Given the description of an element on the screen output the (x, y) to click on. 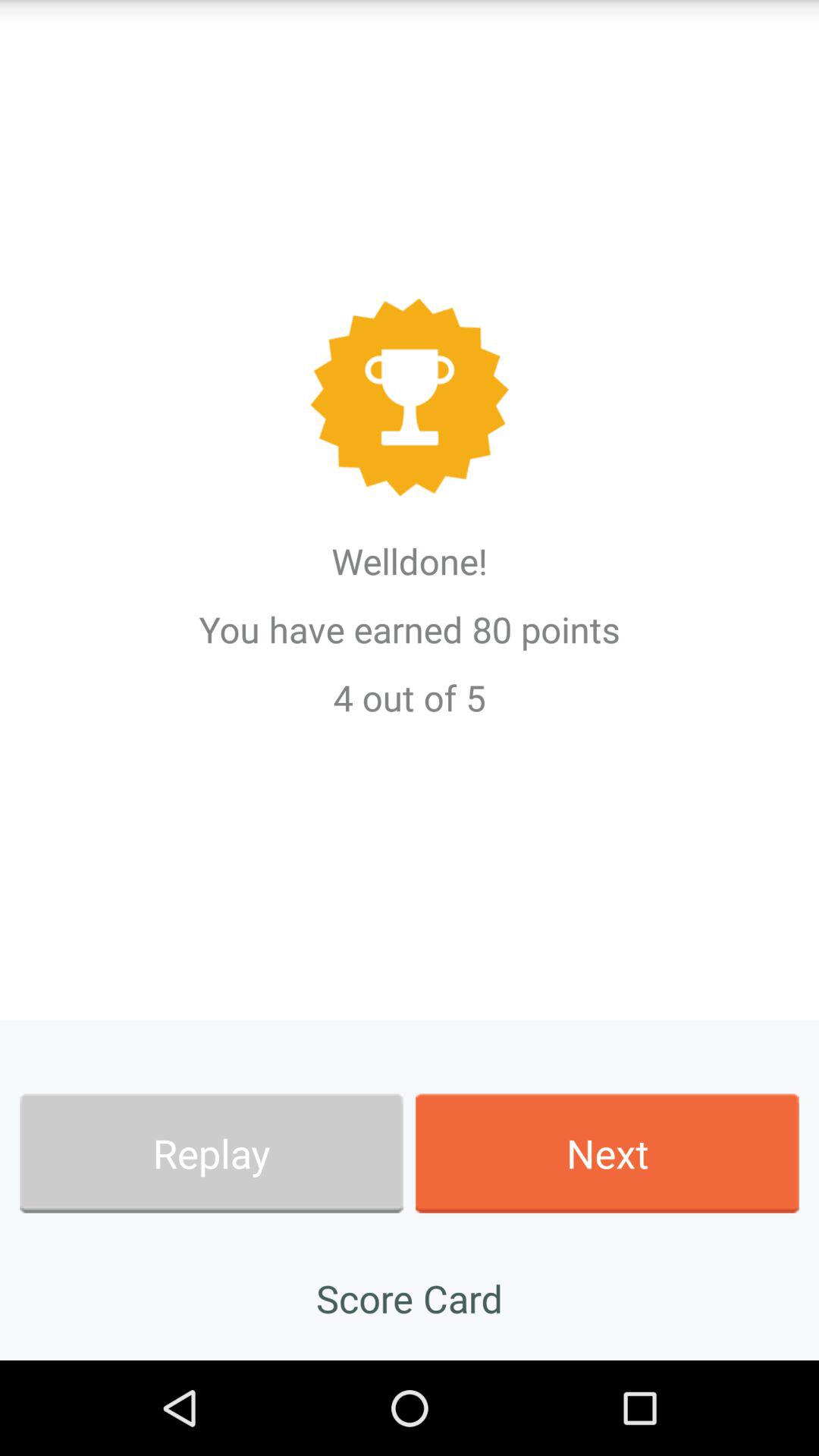
jump to the replay app (211, 1153)
